Given the description of an element on the screen output the (x, y) to click on. 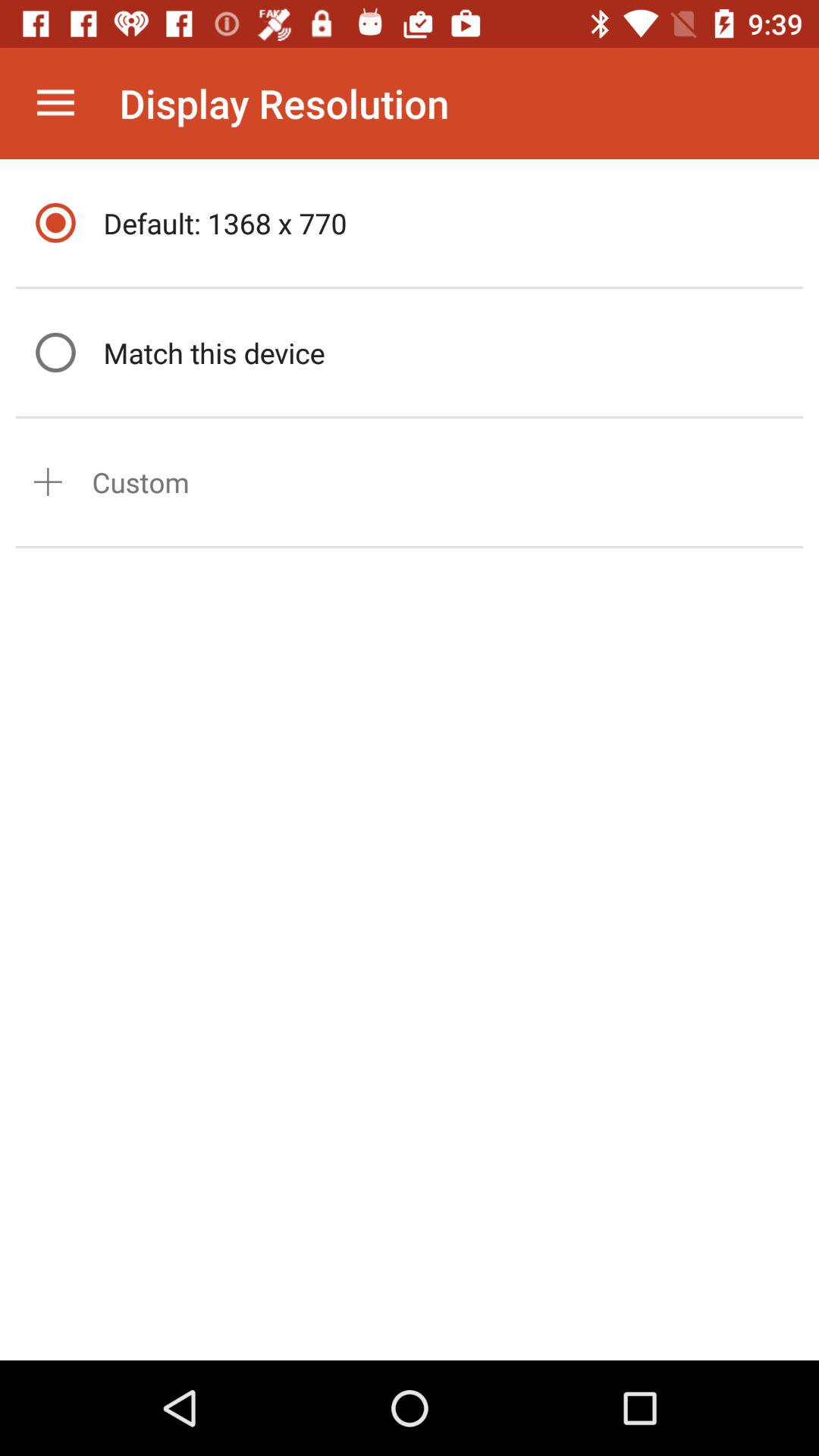
choose match this device item (449, 352)
